Given the description of an element on the screen output the (x, y) to click on. 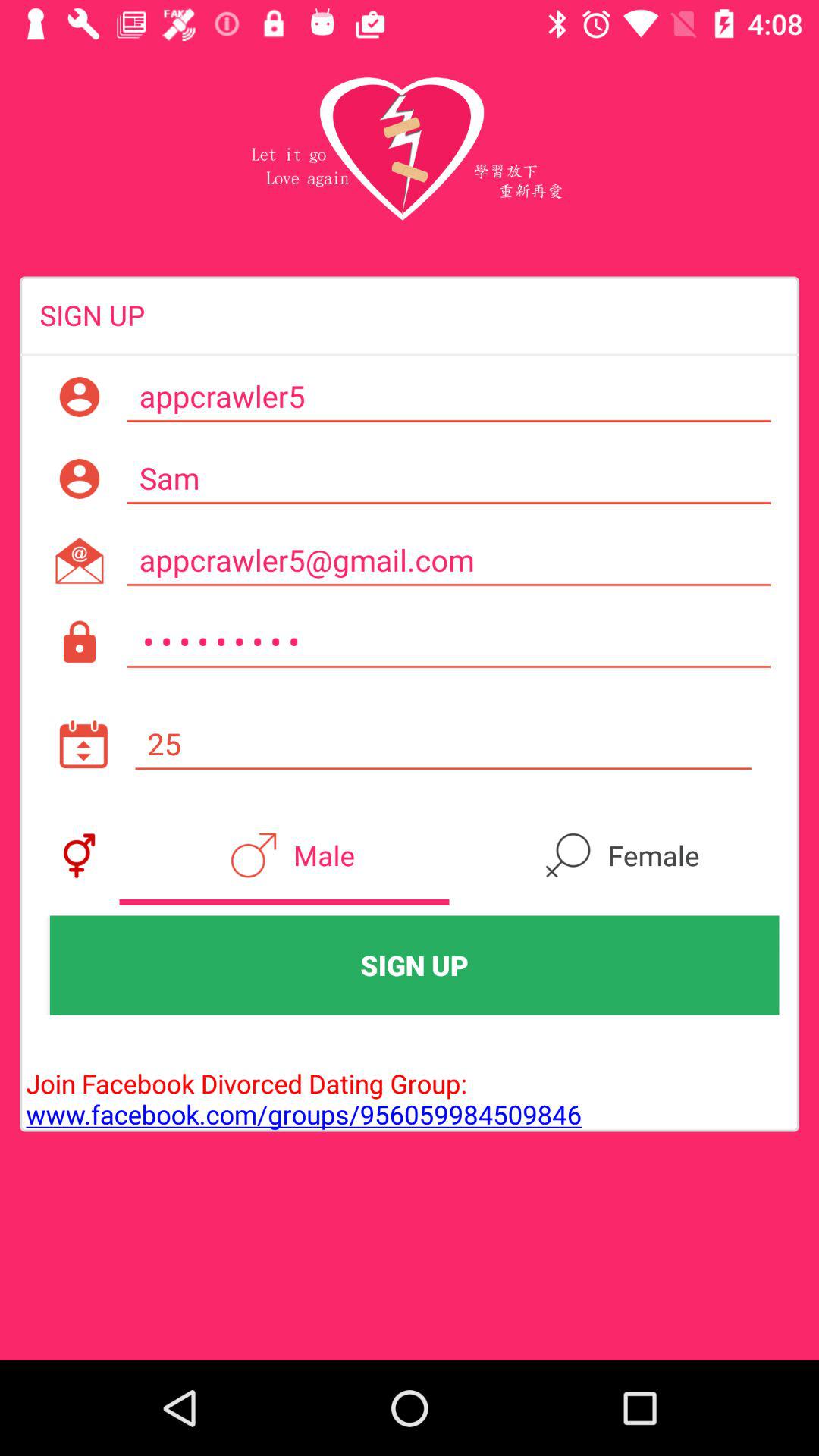
choose the icon below the crowd3116 item (443, 744)
